Given the description of an element on the screen output the (x, y) to click on. 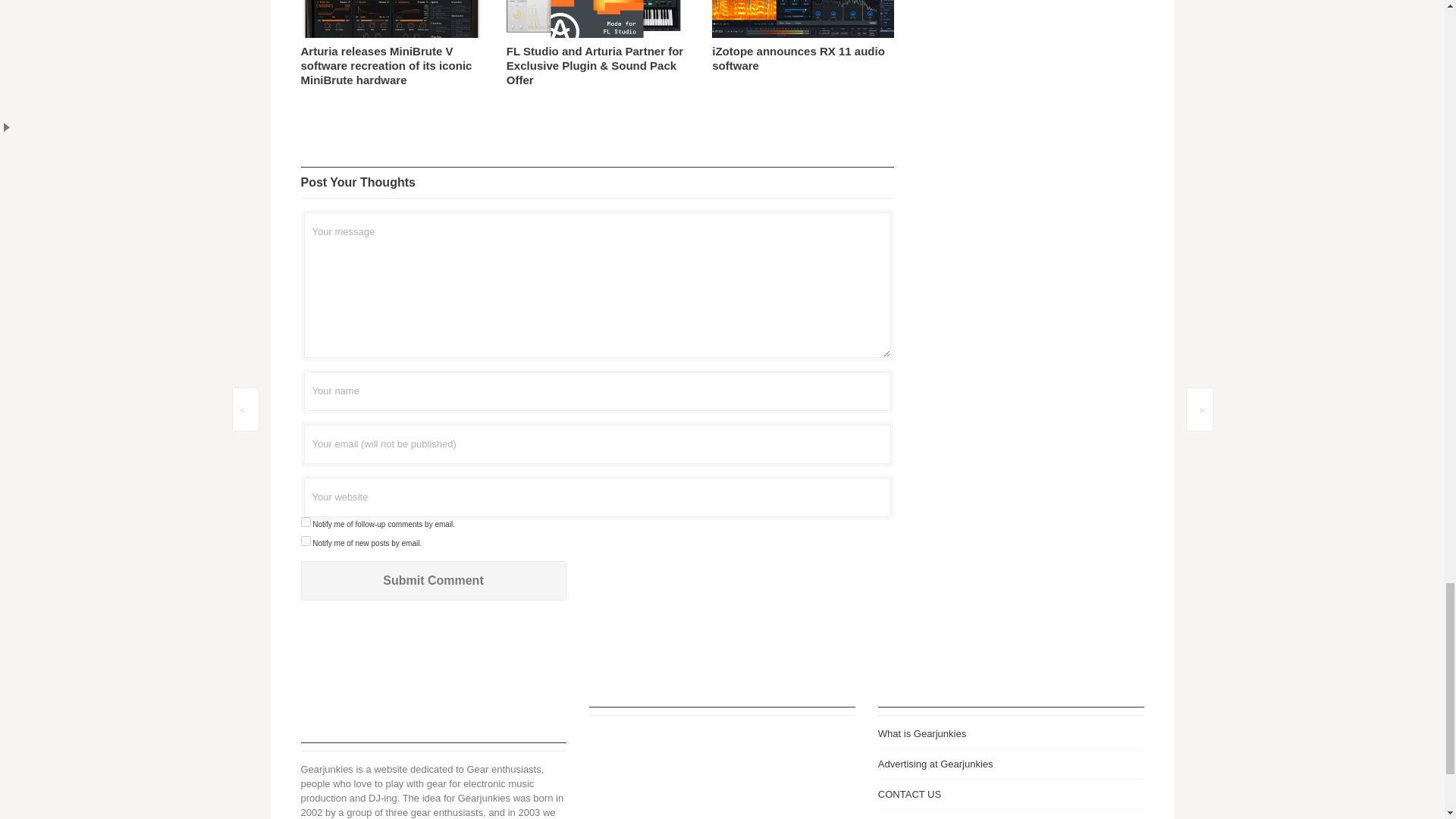
subscribe (304, 521)
subscribe (304, 541)
Submit Comment (432, 580)
